Given the description of an element on the screen output the (x, y) to click on. 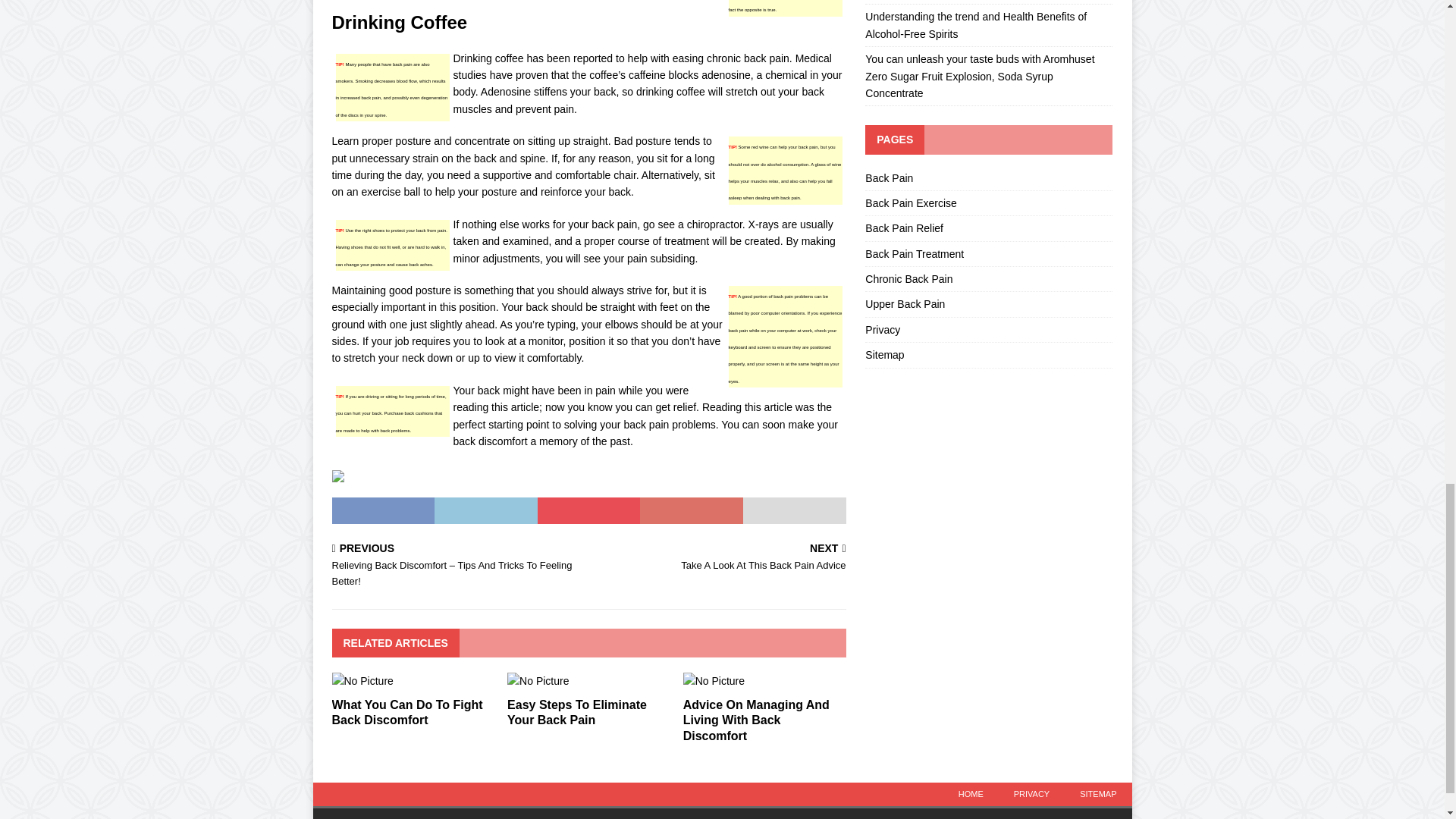
Easy Steps To Eliminate Your Back Pain (720, 558)
Advice On Managing And Living With Back Discomfort (576, 712)
What You Can Do To Fight Back Discomfort (755, 720)
